Given the description of an element on the screen output the (x, y) to click on. 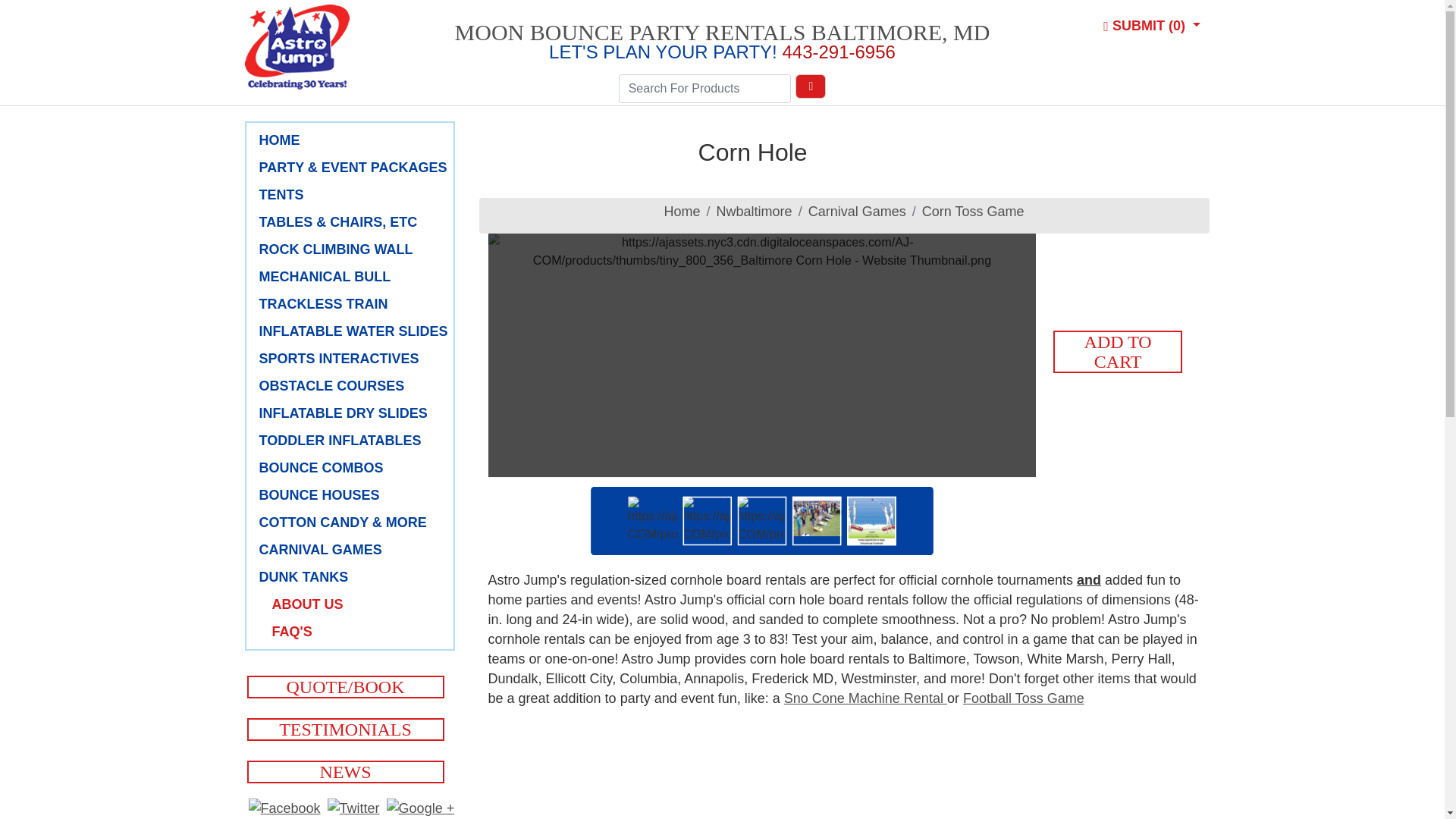
TRACKLESS TRAIN (352, 303)
BOUNCE COMBOS (352, 467)
SPORTS INTERACTIVES (352, 358)
TODDLER INFLATABLES (352, 440)
OBSTACLE COURSES (352, 385)
MECHANICAL BULL (352, 276)
INFLATABLE DRY SLIDES (352, 413)
INFLATABLE WATER SLIDES (352, 331)
MOON BOUNCE PARTY RENTALS BALTIMORE, MD (722, 32)
BOUNCE HOUSES (352, 495)
